Given the description of an element on the screen output the (x, y) to click on. 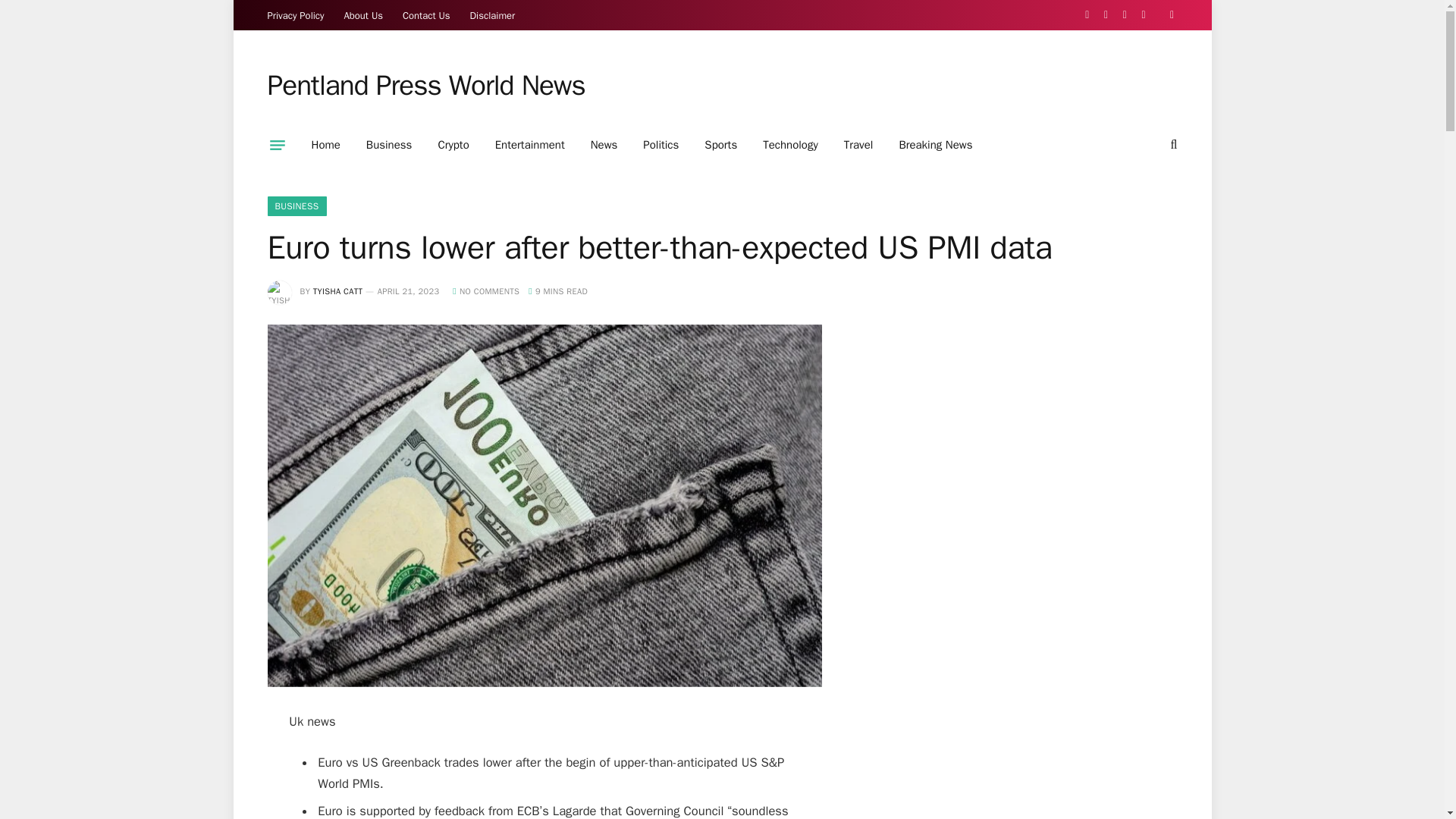
Business (389, 144)
Breaking News (935, 144)
BUSINESS (296, 206)
NO COMMENTS (485, 290)
TYISHA CATT (337, 290)
Technology (790, 144)
Sports (720, 144)
Disclaimer (492, 15)
Politics (660, 144)
About Us (363, 15)
Privacy Policy (295, 15)
Home (325, 144)
Travel (858, 144)
Crypto (453, 144)
